Given the description of an element on the screen output the (x, y) to click on. 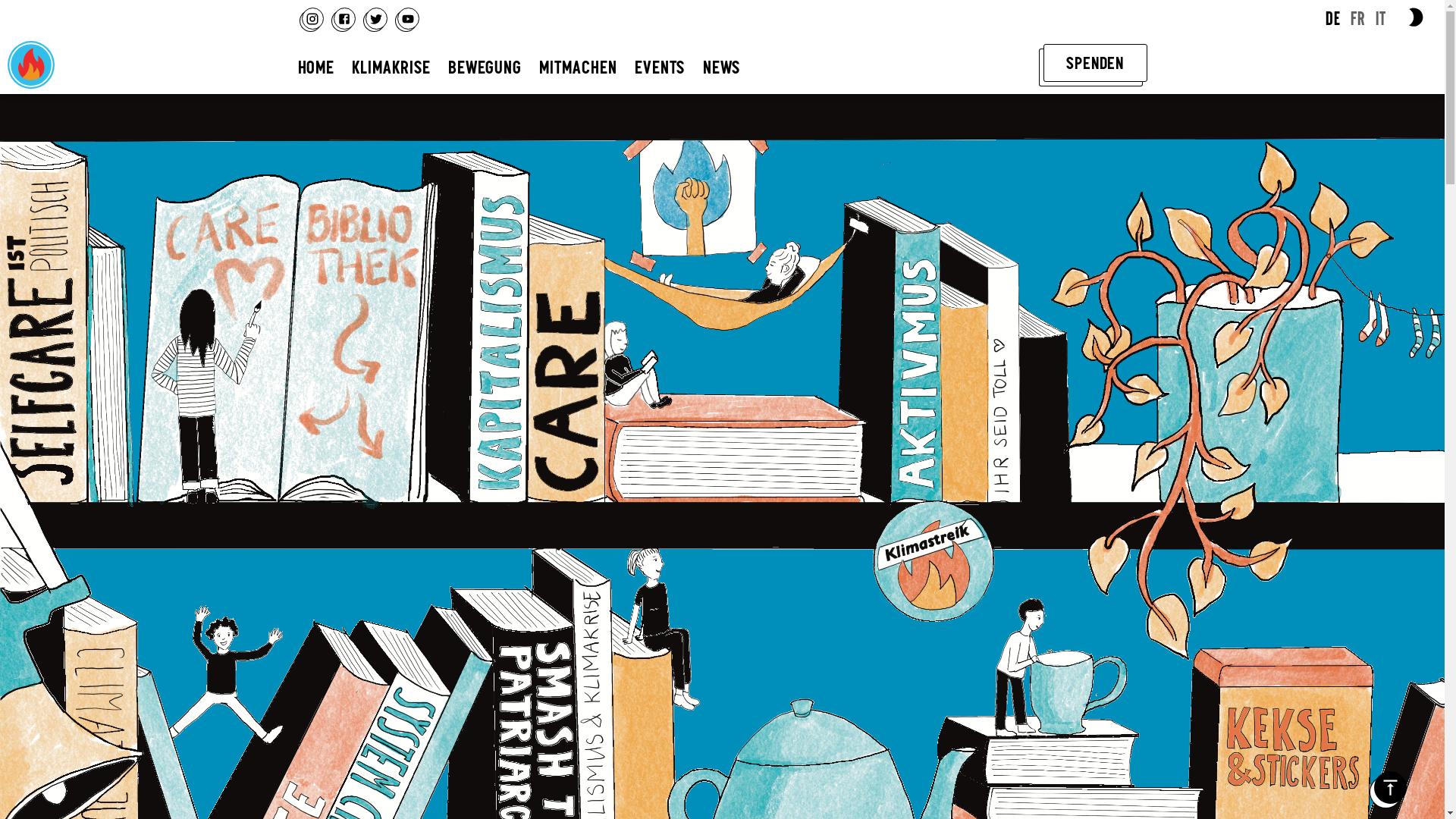
FR Element type: text (1357, 18)
BEWEGUNG Element type: text (484, 65)
KLIMAKRISE Element type: text (390, 65)
DE Element type: text (1332, 18)
EVENTS Element type: text (659, 65)
HOME Element type: text (315, 65)
NEWS Element type: text (721, 65)
MITMACHEN Element type: text (577, 65)
SPENDEN Element type: text (1095, 62)
IT Element type: text (1380, 18)
